Given the description of an element on the screen output the (x, y) to click on. 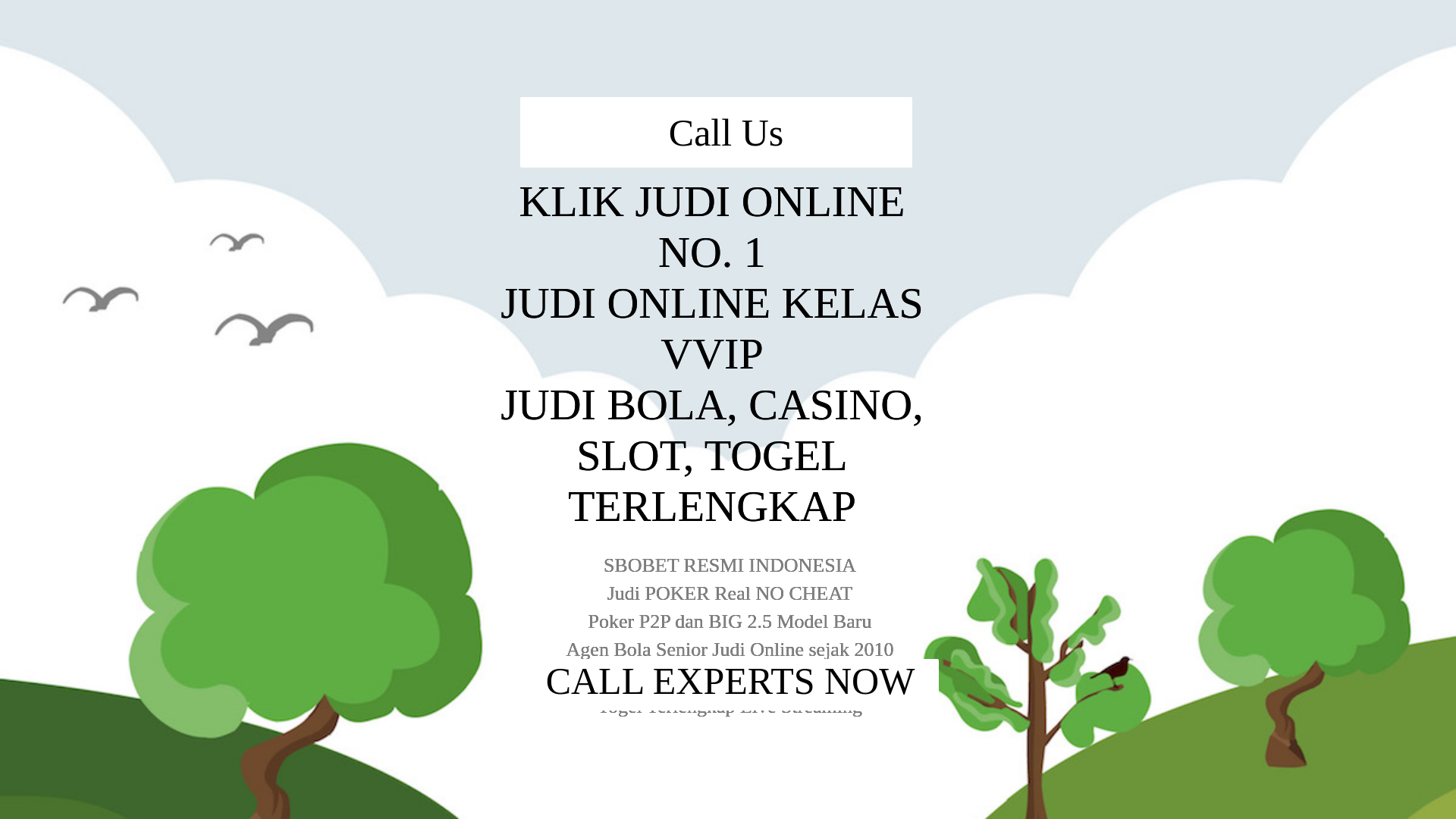
ibosport alternatif (697, 249)
SBOBET RESMI INDONESIA (727, 385)
Poker P2P dan BIG 2.5 Model Baru (728, 435)
KLIK JUDI ONLINE No. 1 (727, 276)
Call Us (1133, 32)
Judi POKER Real NO CHEAT (726, 411)
Judi Online Kelas VVIP (727, 308)
Togel Terlengkap Live Streaming (727, 511)
Call Us (727, 568)
Judi Bola, Casino, Slot, Togel Terlengkap (727, 341)
KOLAMHOKI.COM (397, 25)
Agen Bola Senior Judi Online sejak 2010 (727, 461)
